Given the description of an element on the screen output the (x, y) to click on. 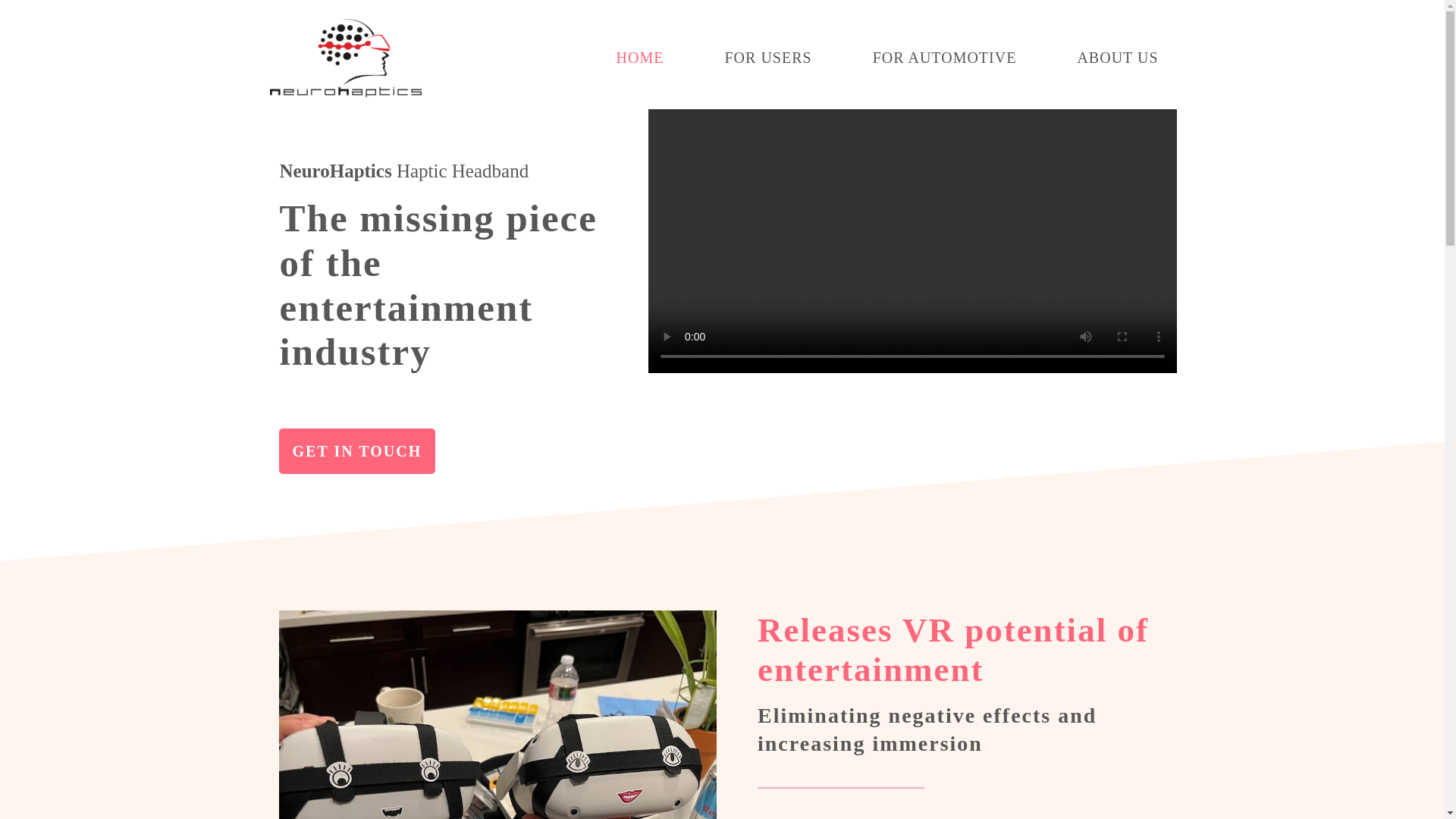
GET IN TOUCH (357, 451)
GET IN TOUCH (357, 451)
FOR AUTOMOTIVE (944, 57)
ABOUT US (1117, 57)
FOR USERS (766, 57)
HOME (639, 57)
